Given the description of an element on the screen output the (x, y) to click on. 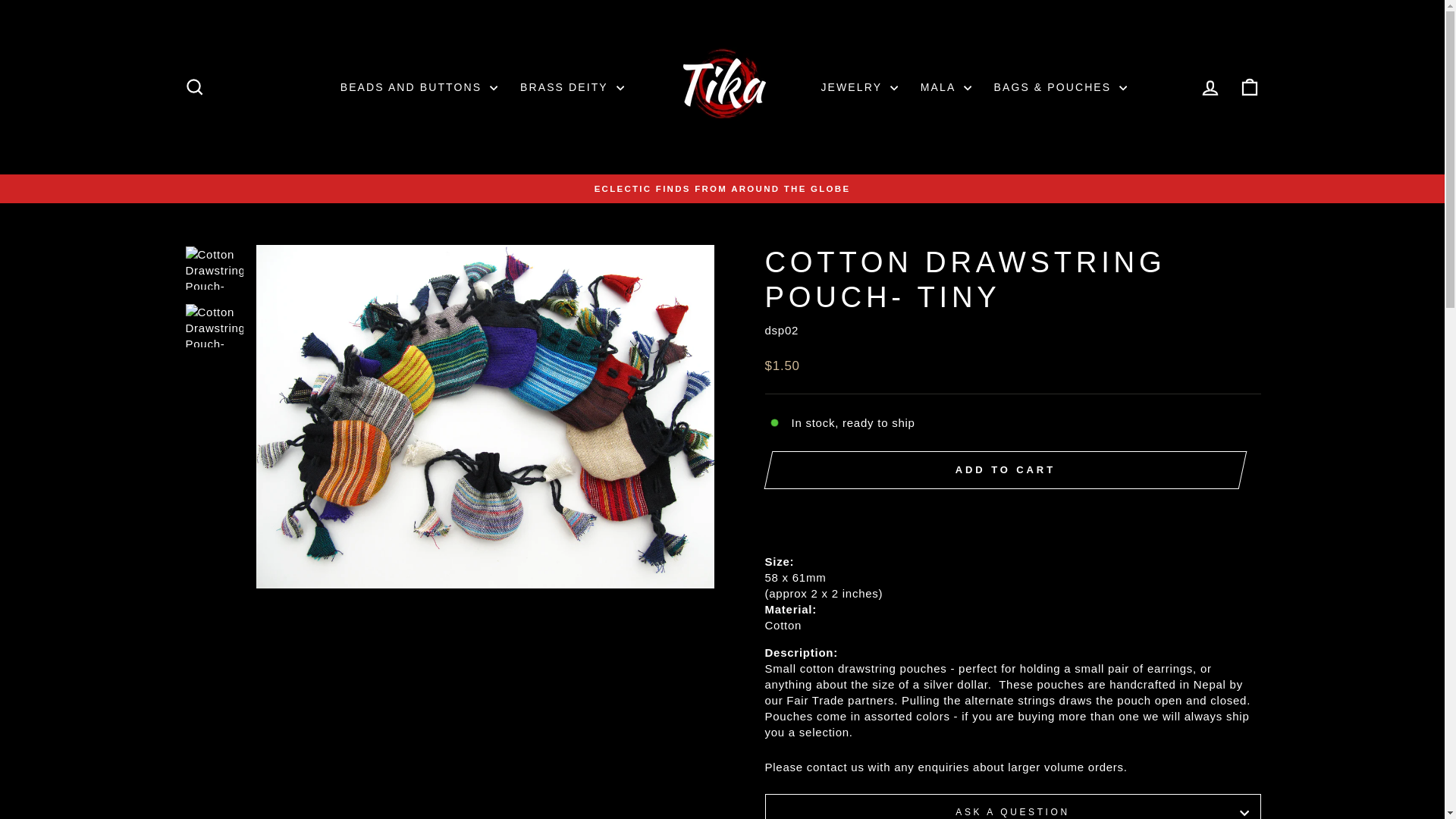
ICON-BAG-MINIMAL (1249, 86)
ICON-SEARCH (194, 86)
ACCOUNT (1210, 87)
